Given the description of an element on the screen output the (x, y) to click on. 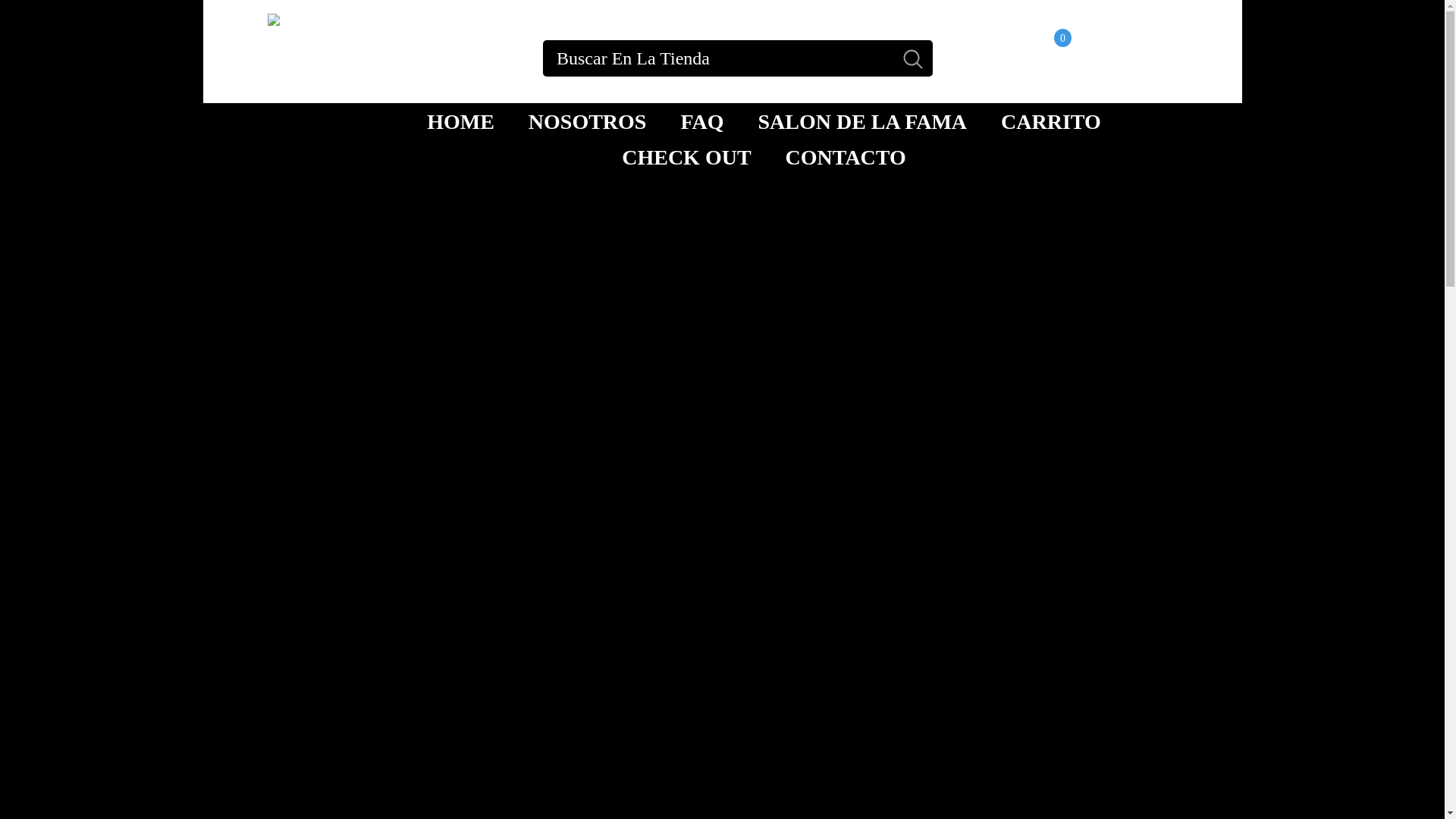
NOSOTROS (586, 120)
HOME (460, 120)
CARRITO (1050, 120)
SALON DE LA FAMA (861, 120)
CONTACTO (844, 156)
FAQ (701, 120)
CHECK OUT (1035, 58)
